Given the description of an element on the screen output the (x, y) to click on. 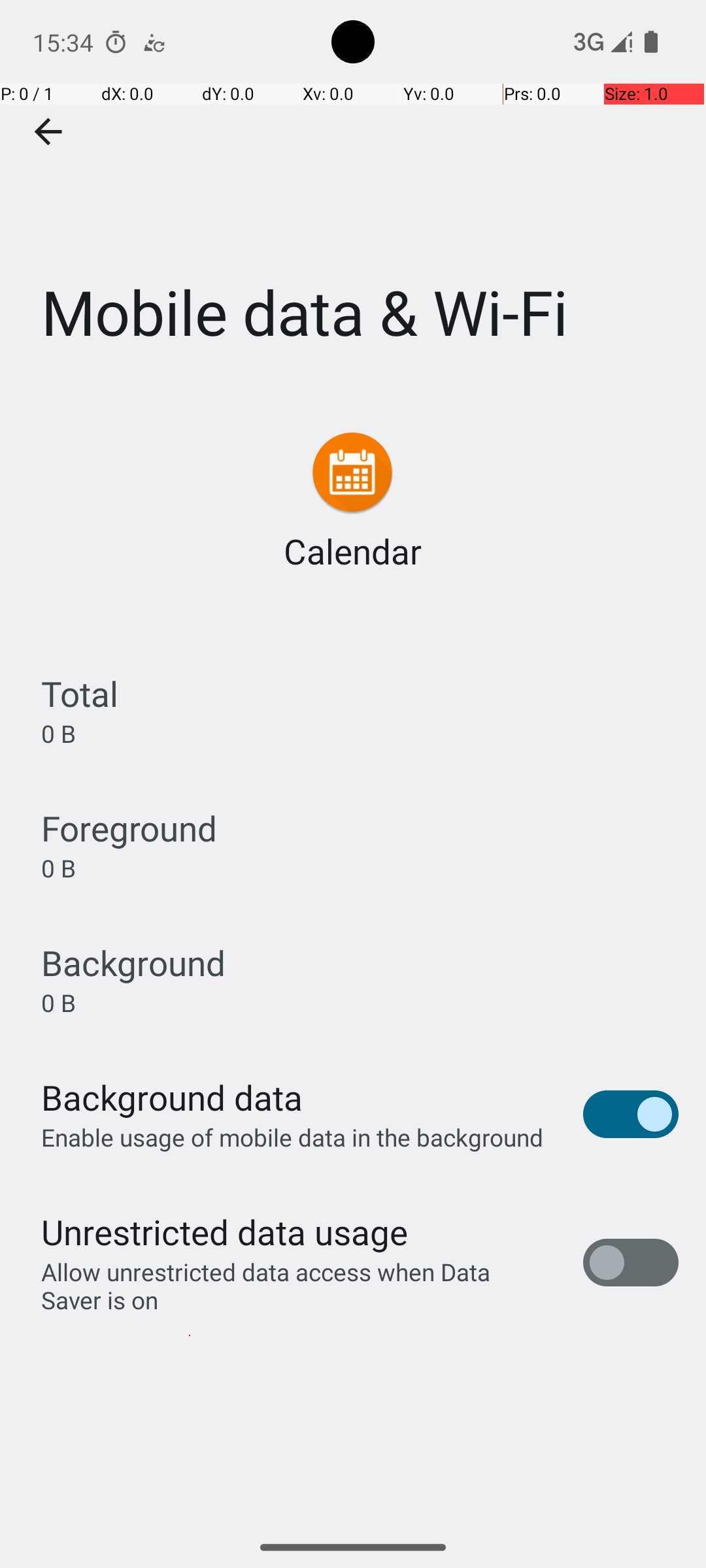
Foreground Element type: android.widget.TextView (129, 827)
Background Element type: android.widget.TextView (133, 962)
Background data Element type: android.widget.TextView (171, 1097)
Enable usage of mobile data in the background Element type: android.widget.TextView (292, 1136)
Unrestricted data usage Element type: android.widget.TextView (224, 1231)
Allow unrestricted data access when Data Saver is on Element type: android.widget.TextView (298, 1285)
